Given the description of an element on the screen output the (x, y) to click on. 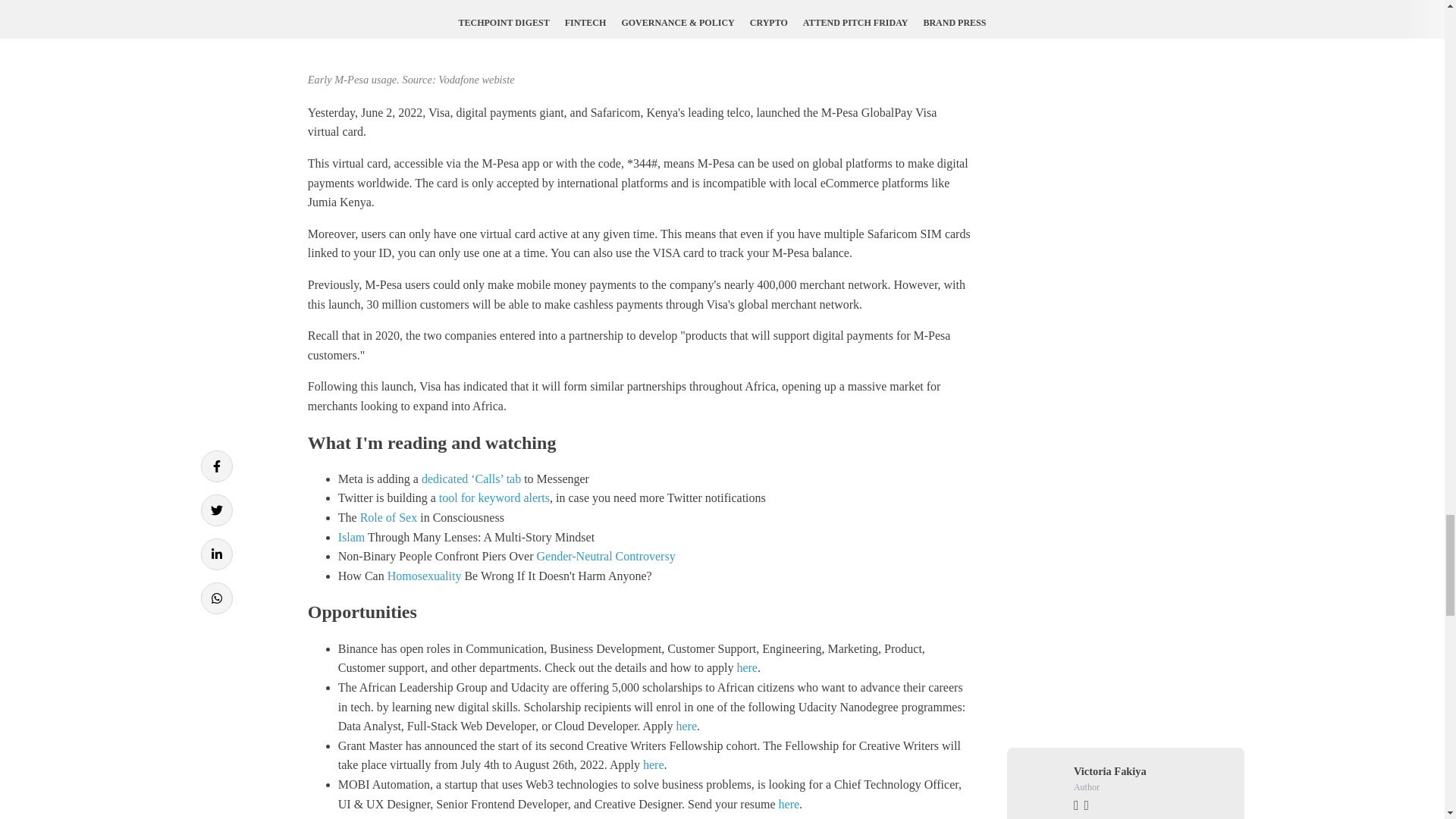
Islam (351, 536)
Role of Sex (389, 517)
tool for keyword alerts (494, 497)
here (746, 667)
here (686, 725)
Gender-Neutral Controversy (606, 555)
Losing everything to find a gem 3 (639, 32)
Homosexuality (424, 575)
